Given the description of an element on the screen output the (x, y) to click on. 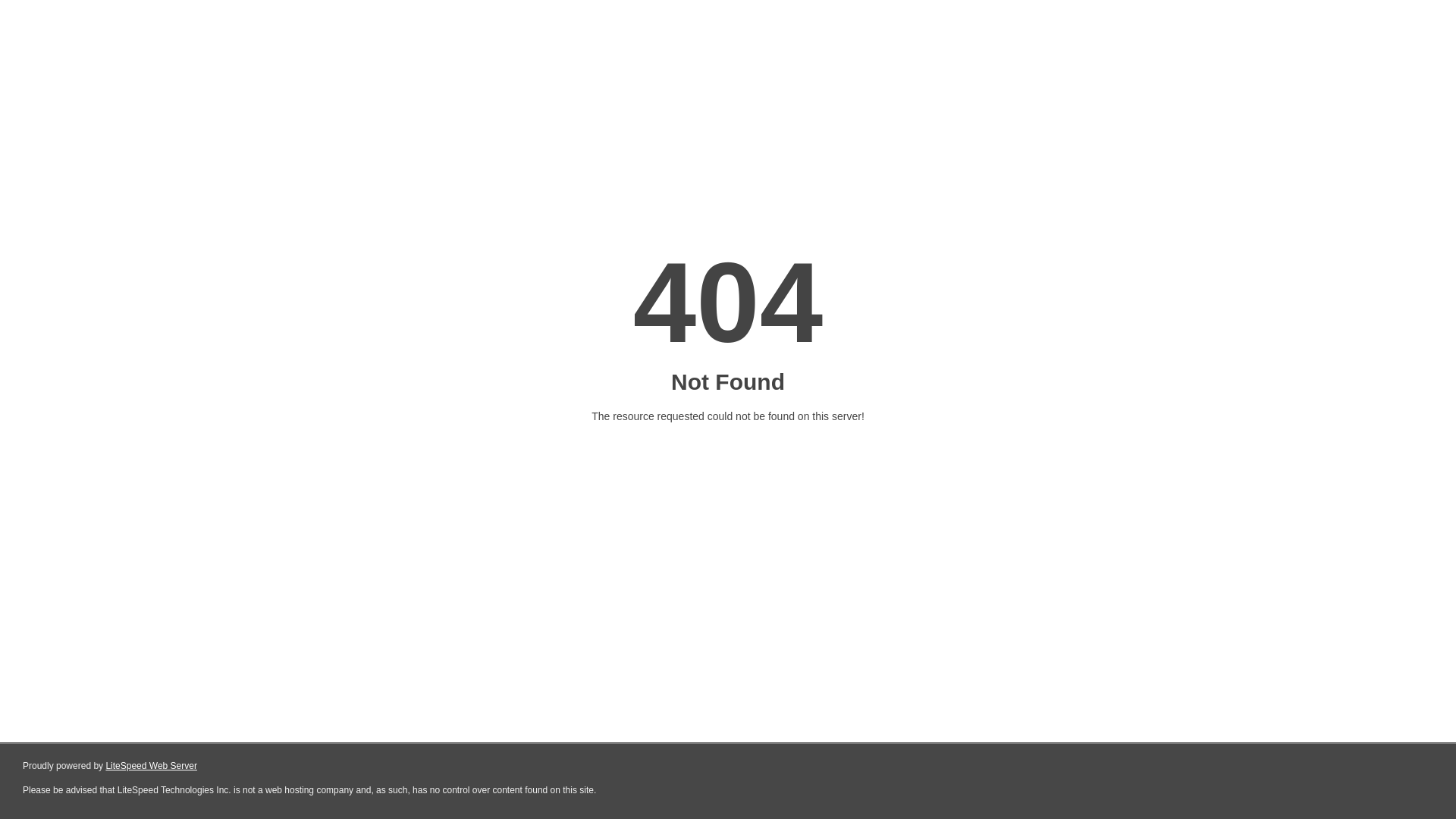
LiteSpeed Web Server Element type: text (151, 765)
